Given the description of an element on the screen output the (x, y) to click on. 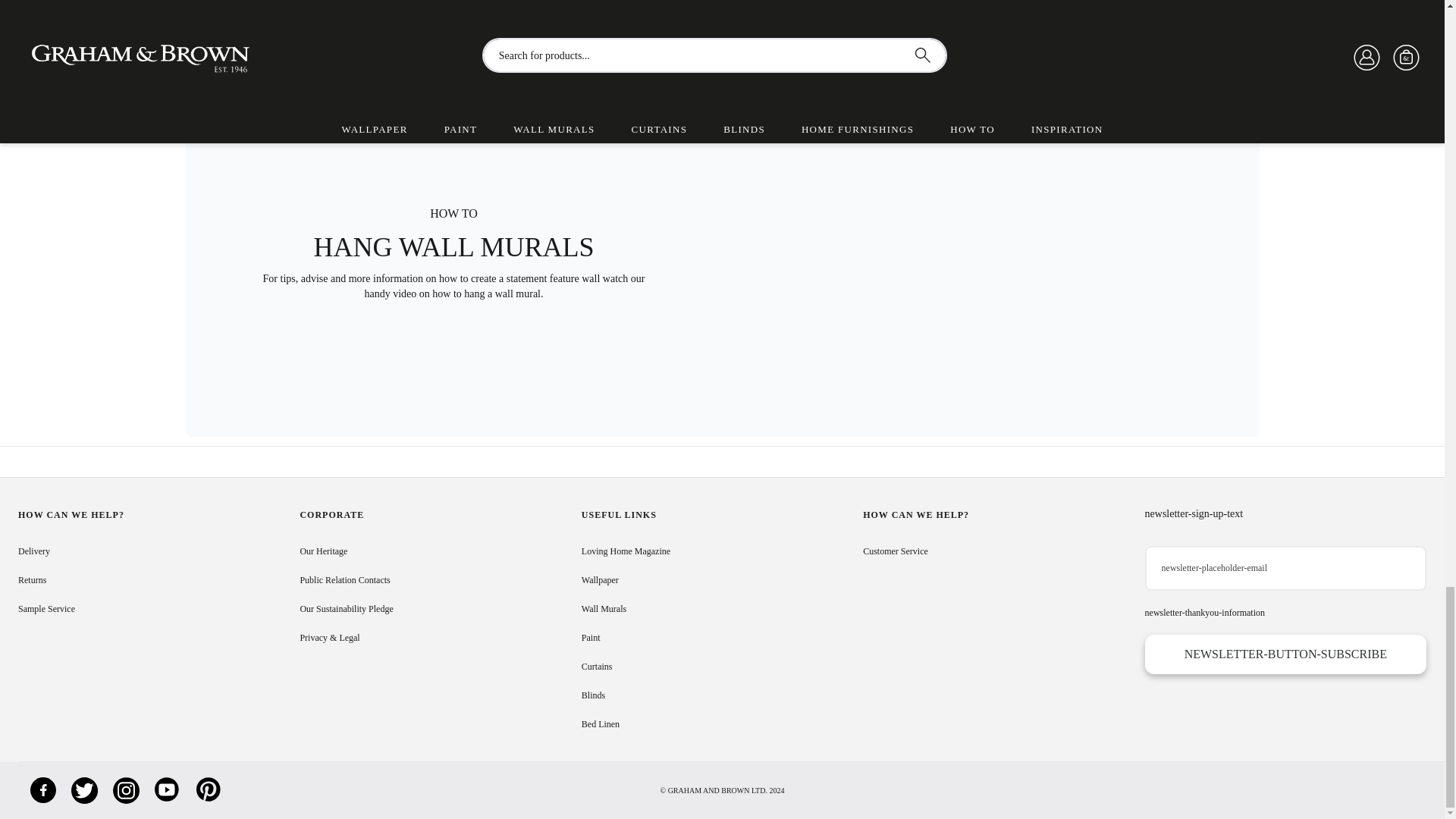
Our Heritage (323, 551)
Our Sustainability Pledge (346, 608)
Delivery (33, 551)
Public Relation Contacts (344, 579)
Sample Service (46, 608)
Returns (31, 579)
